Given the description of an element on the screen output the (x, y) to click on. 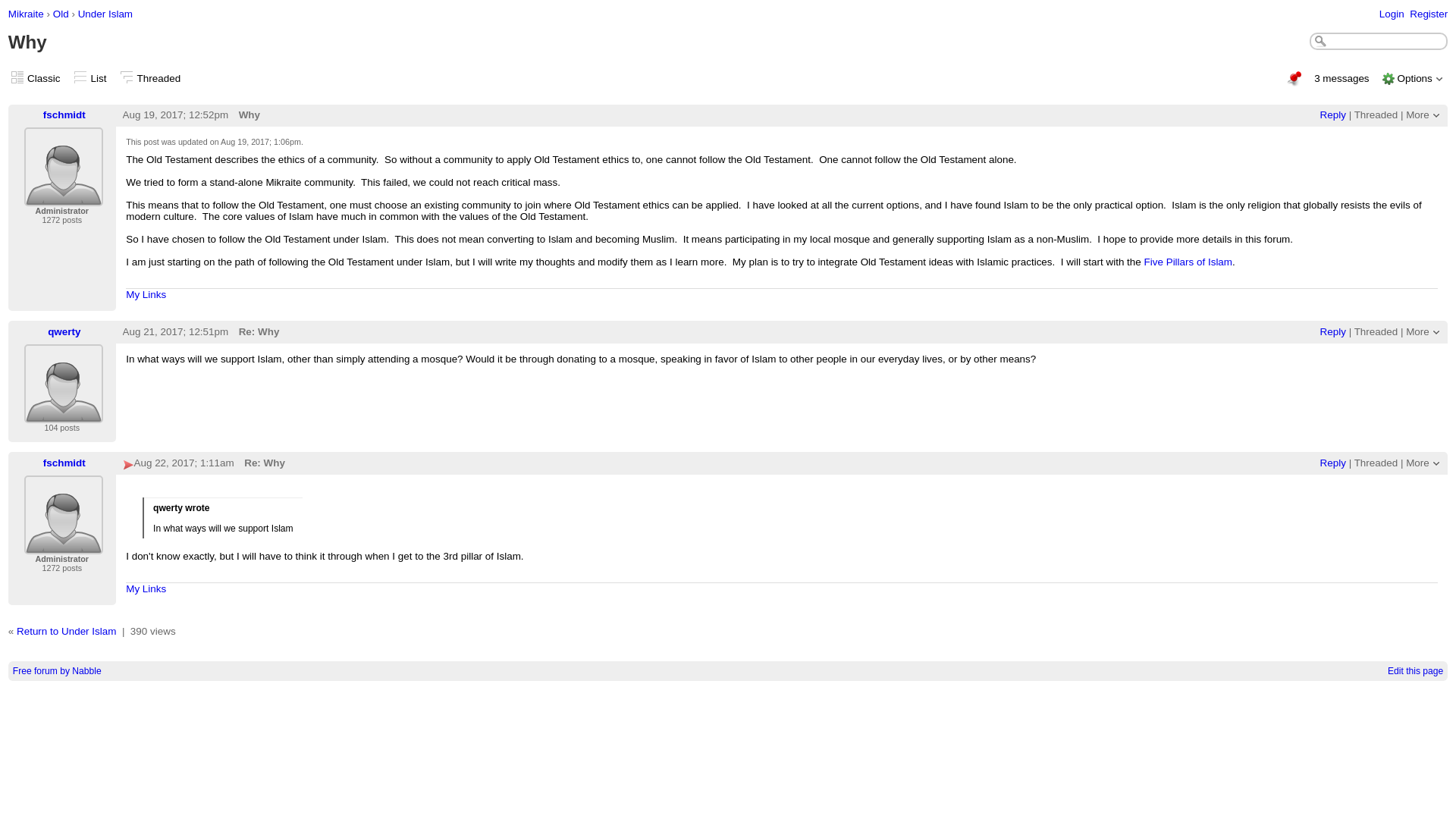
Login (1391, 13)
fschmidt (64, 114)
View profile of fschmidt (63, 196)
Click for more options (1417, 114)
Click for more options (1417, 462)
Threaded (1375, 114)
Reply (1332, 114)
qwerty (63, 383)
View profile of fschmidt (63, 544)
Click for more options (1417, 331)
Click for more options (1413, 78)
My Links (145, 294)
Five Pillars of Islam (1187, 261)
Old (60, 13)
View profile of qwerty (63, 413)
